Given the description of an element on the screen output the (x, y) to click on. 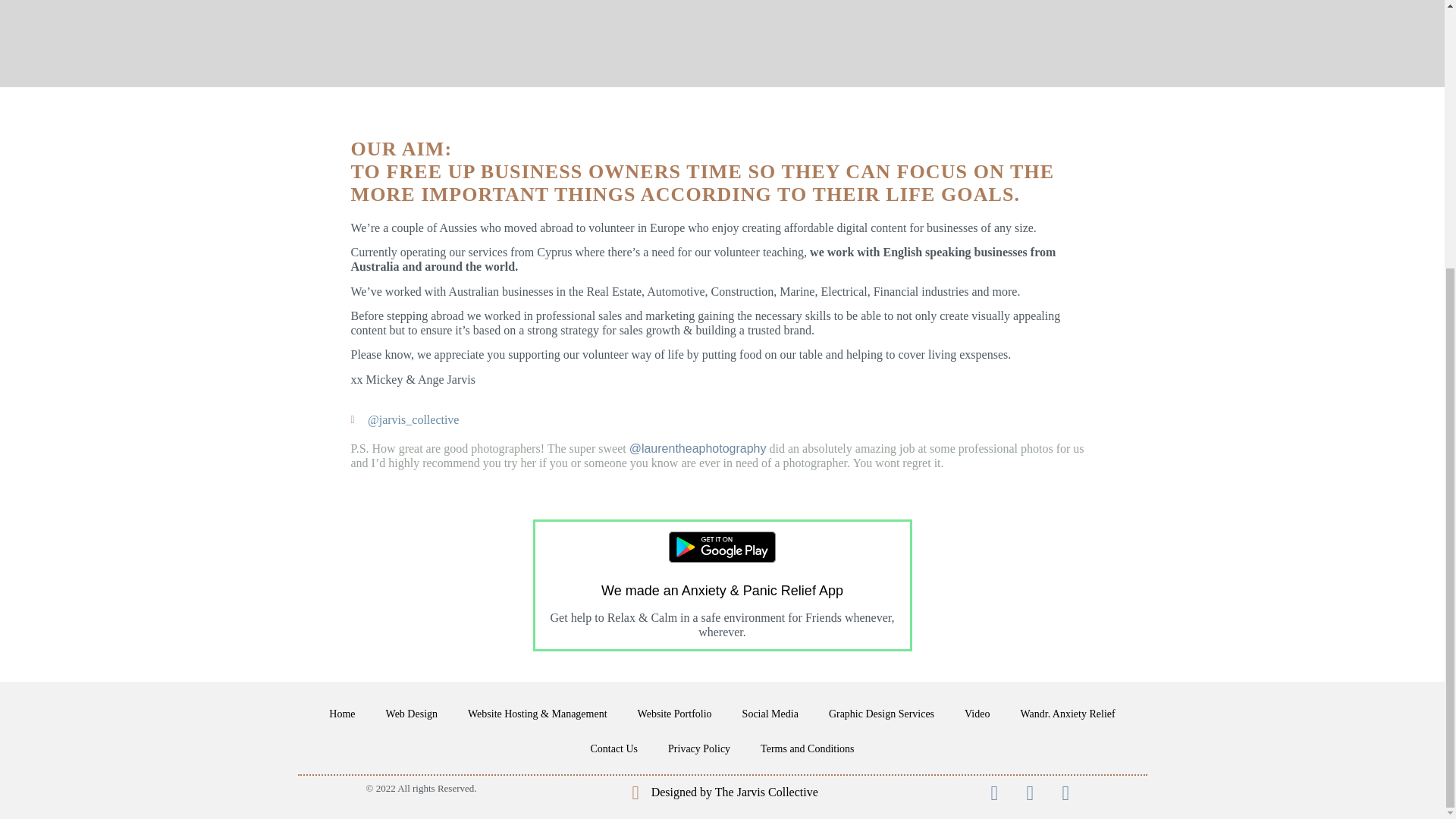
Home (341, 714)
Wandr. Anxiety Relief (1066, 714)
Graphic Design Services (881, 714)
Video (976, 714)
Privacy Policy (698, 749)
Web Design (411, 714)
Website Portfolio (674, 714)
Social Media (769, 714)
Contact Us (613, 749)
Terms and Conditions (807, 749)
